Given the description of an element on the screen output the (x, y) to click on. 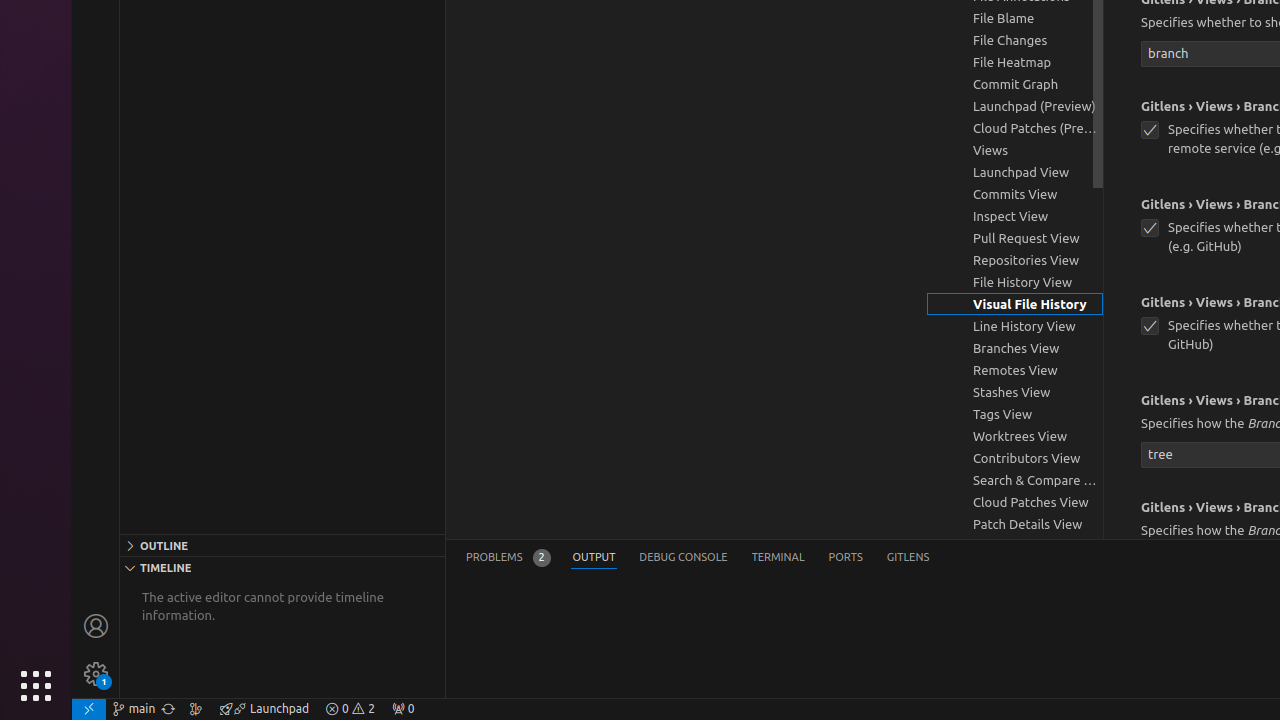
Launchpad (Preview), group Element type: tree-item (1015, 106)
OSWorld (Git) - Synchronize Changes Element type: push-button (168, 709)
Visual File History, group Element type: tree-item (1015, 304)
File Blame, group Element type: tree-item (1015, 18)
OSWorld (Git) - main, Checkout Branch/Tag... Element type: push-button (134, 709)
